Given the description of an element on the screen output the (x, y) to click on. 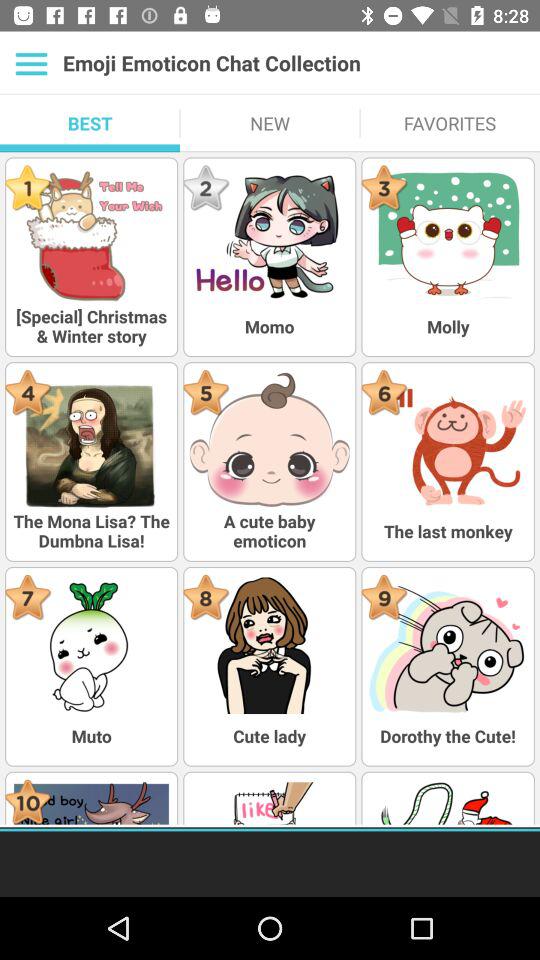
choose item below the emoji emoticon chat item (270, 123)
